Given the description of an element on the screen output the (x, y) to click on. 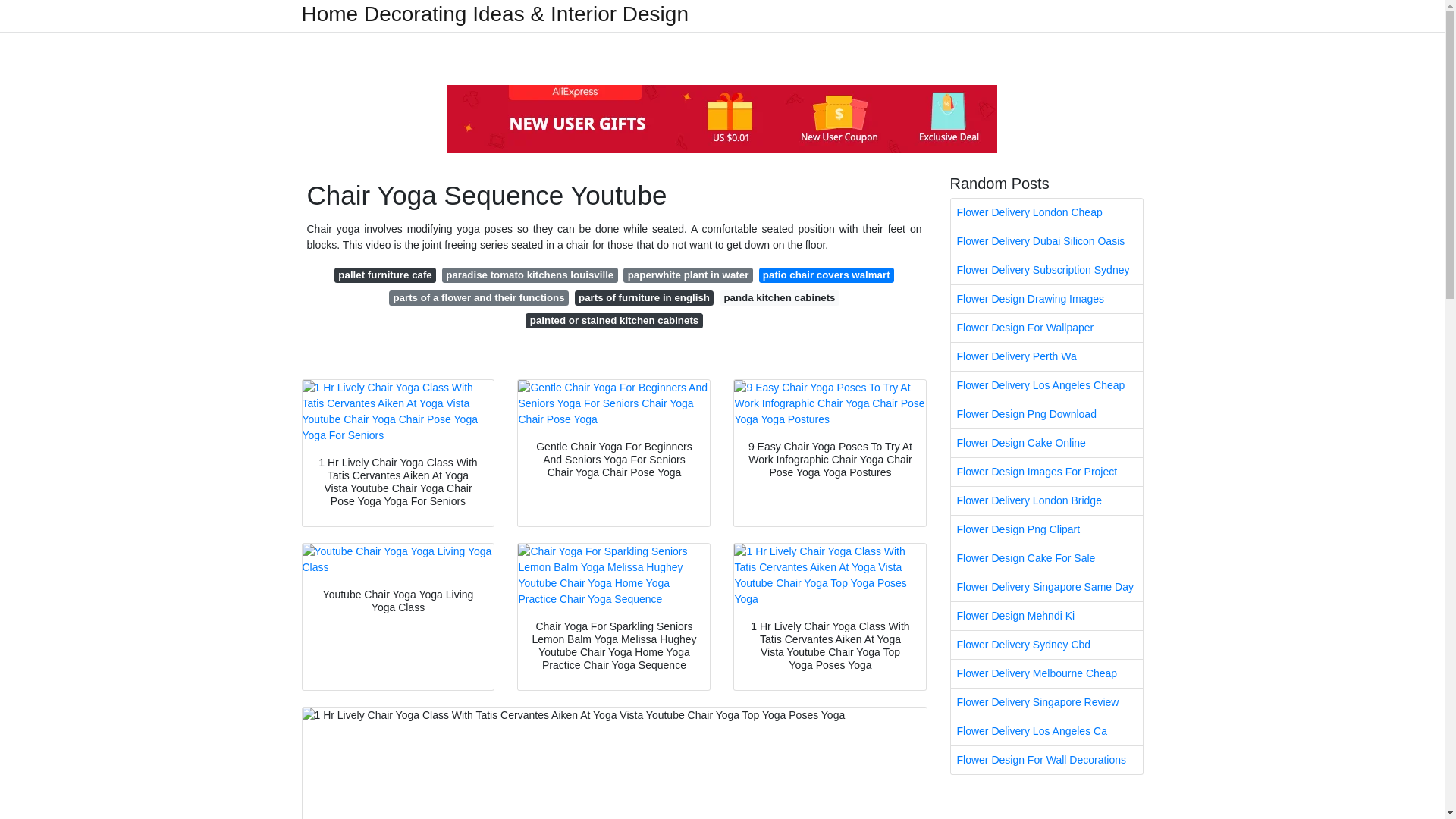
pallet furniture cafe (384, 274)
Flower Design Cake Online (1046, 443)
Flower Design Drawing Images (1046, 298)
paperwhite plant in water (687, 274)
Flower Delivery London Cheap (1046, 212)
painted or stained kitchen cabinets (613, 320)
patio chair covers walmart (825, 274)
parts of a flower and their functions (478, 297)
Flower Design Png Download (1046, 414)
parts of furniture in english (644, 297)
